Given the description of an element on the screen output the (x, y) to click on. 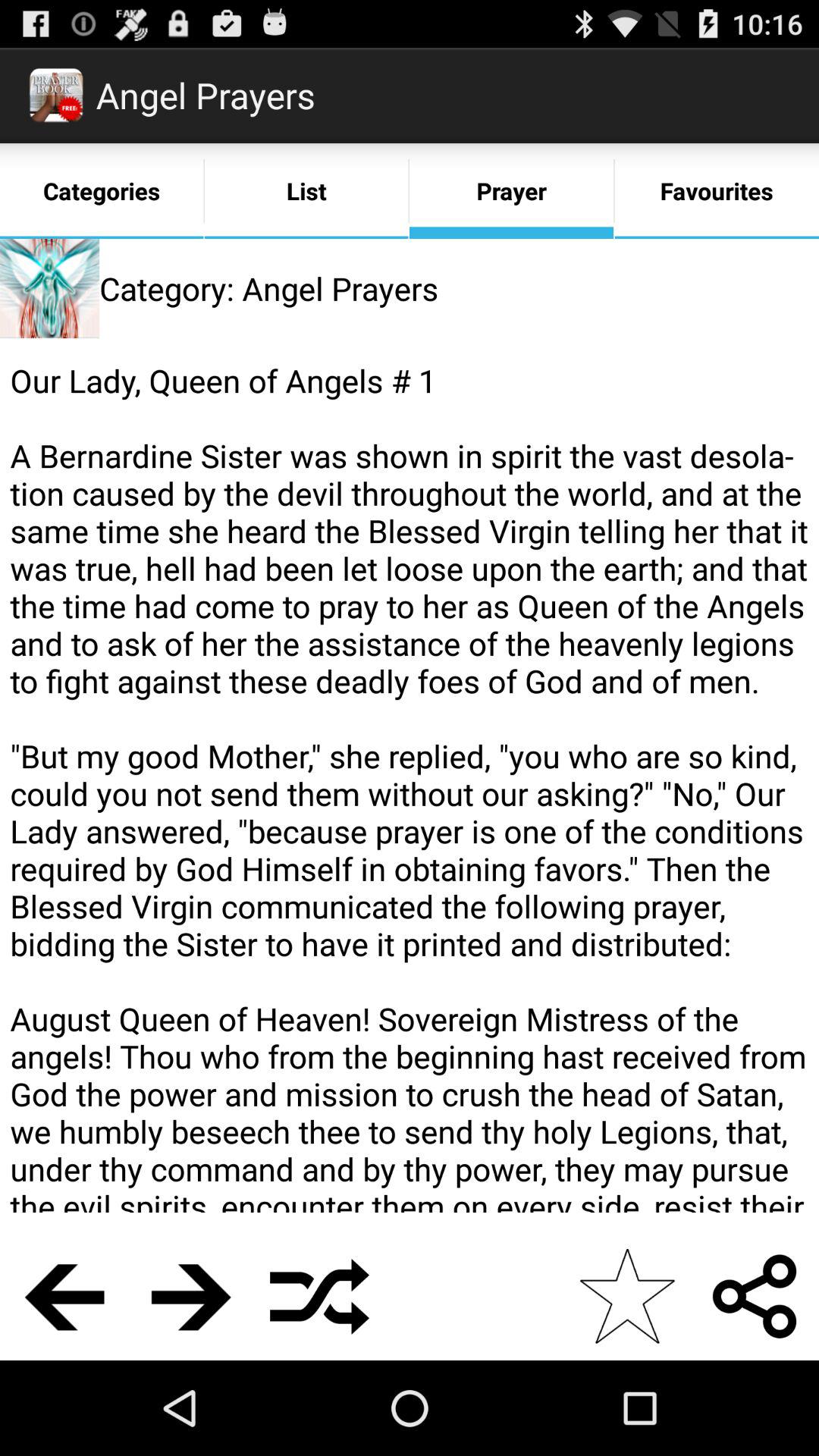
jump the page (191, 1296)
